Given the description of an element on the screen output the (x, y) to click on. 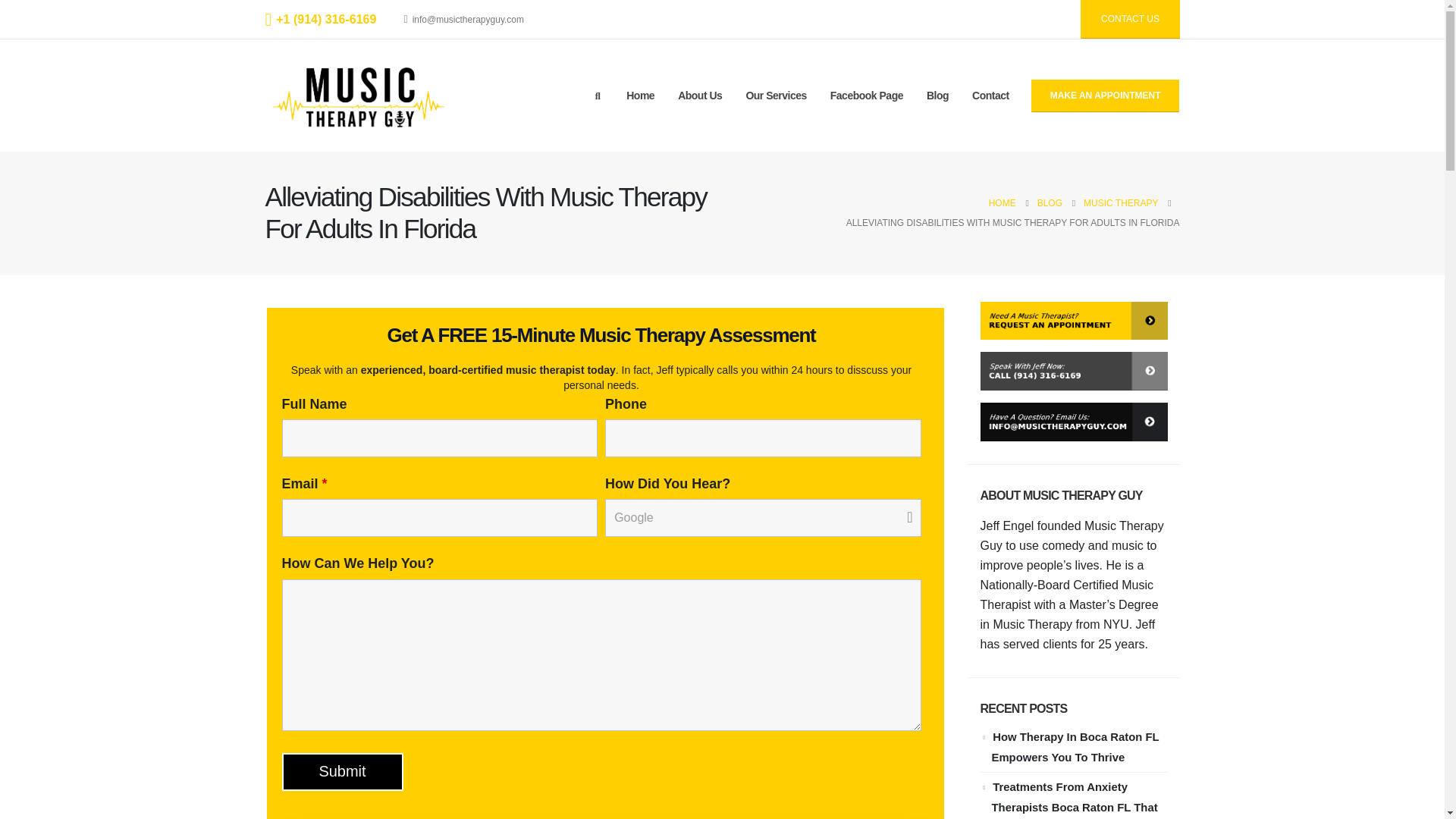
HOME (1002, 202)
Go to Home Page (1002, 202)
MAKE AN APPOINTMENT (1104, 95)
Music Therapy Guy - Music Therapist In Florida (359, 95)
Submit (342, 771)
Our Services (774, 95)
MUSIC THERAPY (1120, 202)
BLOG (1049, 202)
Facebook Page (866, 95)
CONTACT US (1129, 19)
How Therapy In Boca Raton FL Empowers You To Thrive (1074, 747)
